Given the description of an element on the screen output the (x, y) to click on. 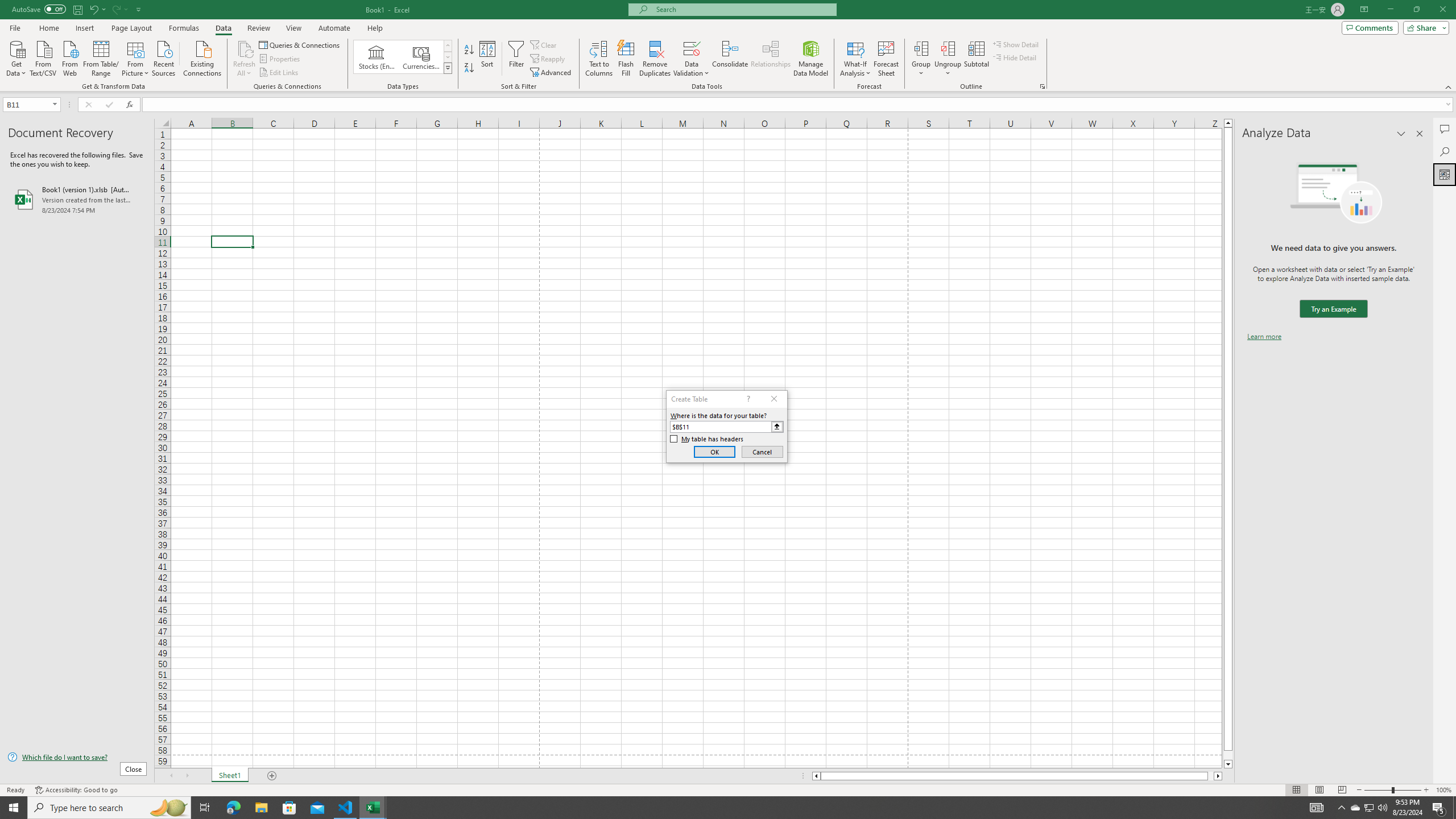
From Picture (135, 57)
Consolidate... (729, 58)
Advanced... (551, 72)
Reapply (548, 58)
Edit Links (279, 72)
From Web (69, 57)
Currencies (English) (420, 56)
Properties (280, 58)
